Given the description of an element on the screen output the (x, y) to click on. 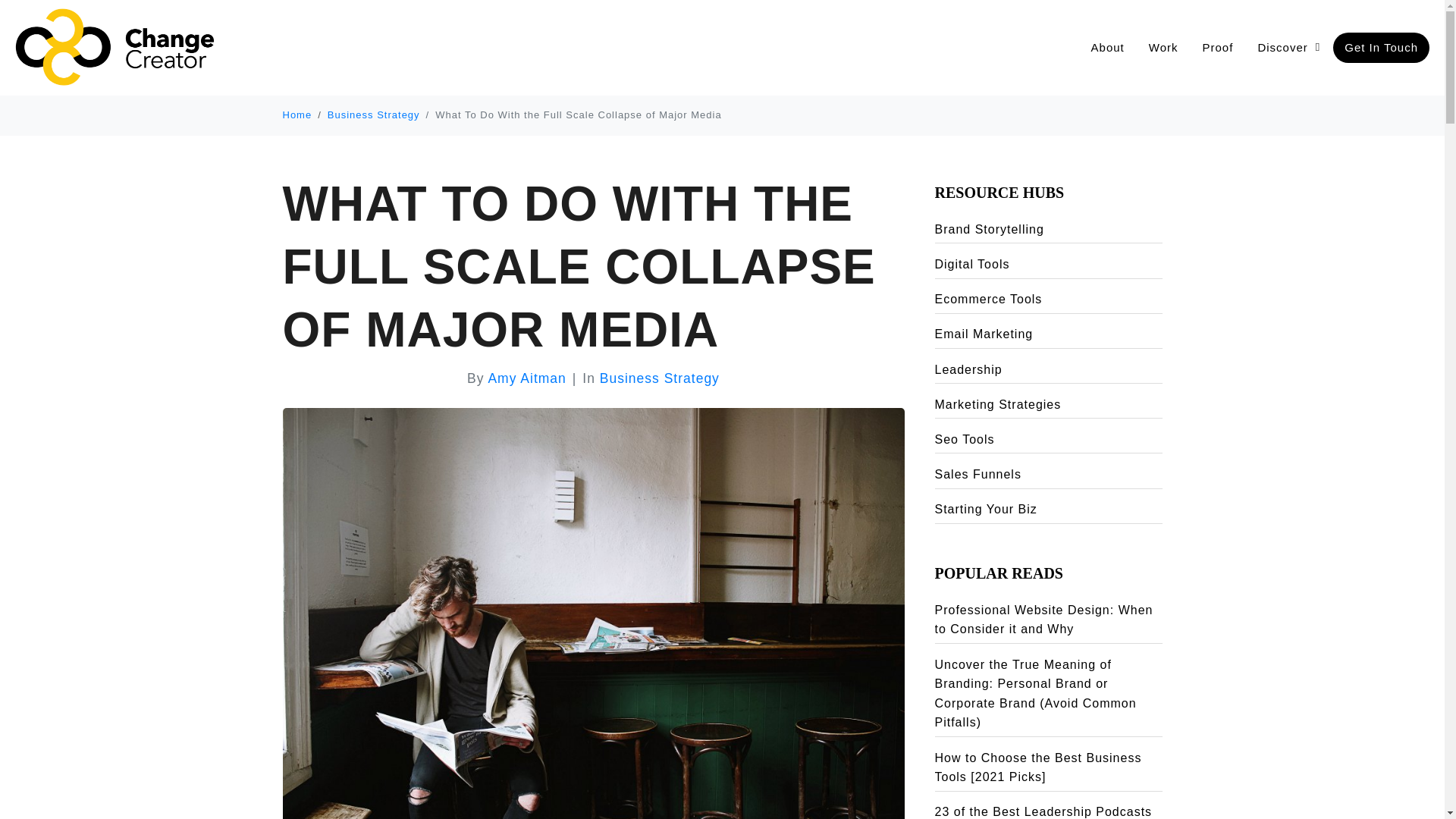
Business Strategy (373, 114)
About (1107, 47)
Discover (1288, 47)
Get In Touch (1381, 47)
Home (296, 114)
Proof (1218, 47)
Work (1164, 47)
Amy Aitman (526, 378)
Business Strategy (659, 378)
